Given the description of an element on the screen output the (x, y) to click on. 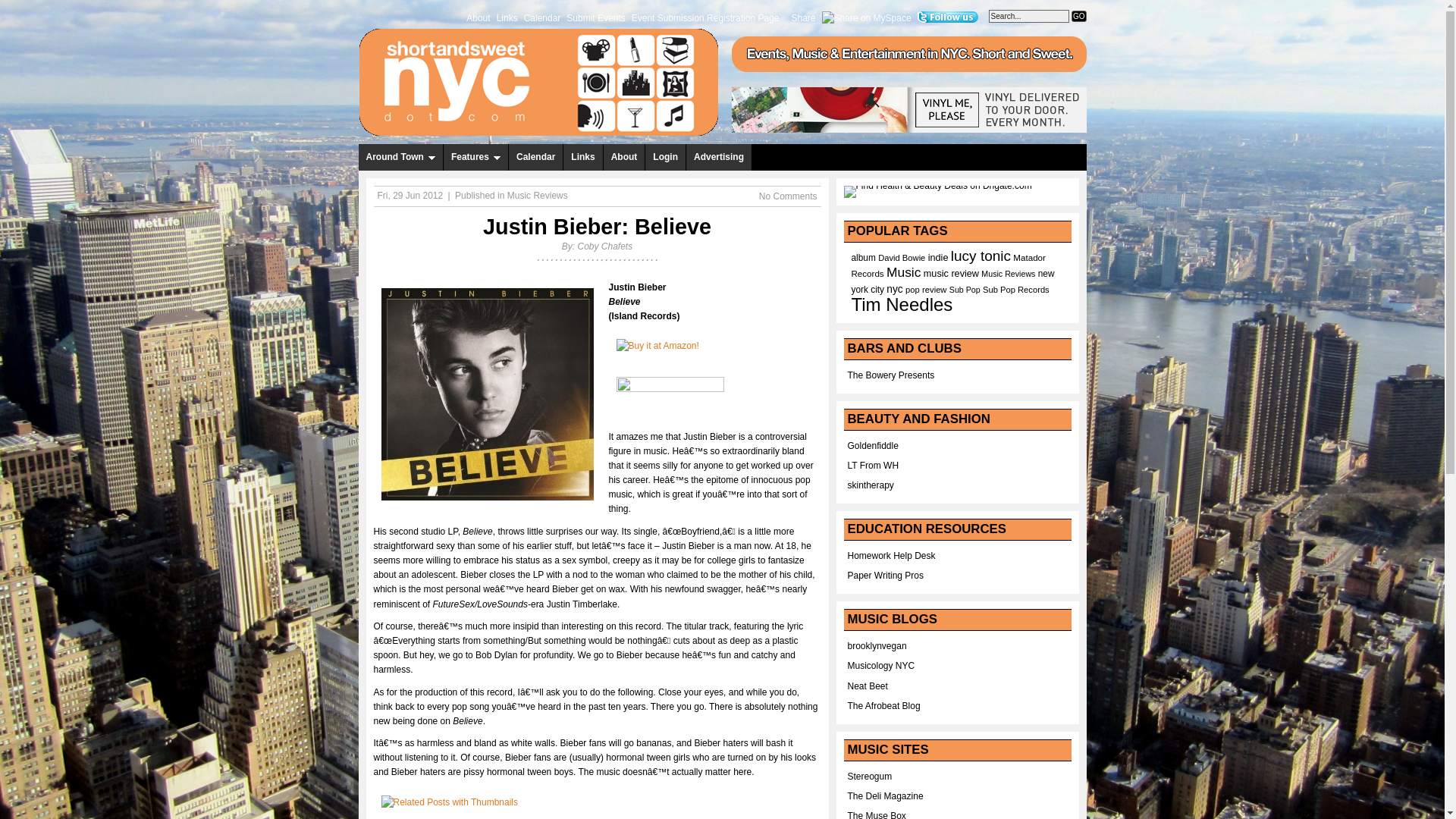
Event Submission Registration Page (705, 17)
Links (507, 17)
Links (582, 157)
About (478, 17)
Submit Events (595, 17)
View all articles by Coby Chafets (603, 245)
twitter-icon.com (947, 17)
GO (1078, 16)
Share (803, 17)
Around Town (400, 157)
Search... (1028, 15)
GO (1078, 16)
Comment on Justin Bieber:  Believe (787, 195)
biber (485, 393)
Paper Writing Pros (885, 575)
